Given the description of an element on the screen output the (x, y) to click on. 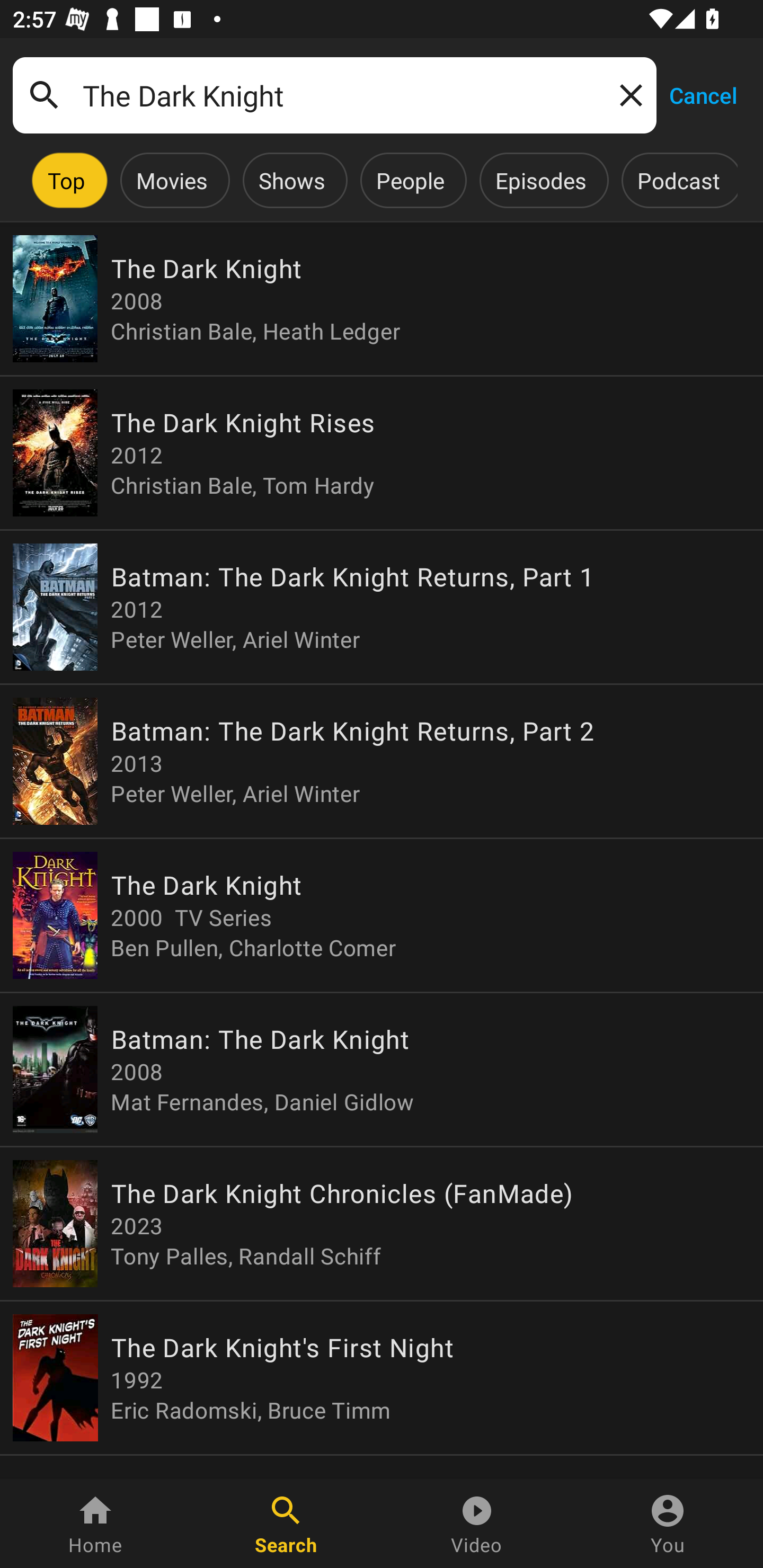
Clear query (627, 94)
Cancel (703, 94)
The Dark Knight (334, 95)
Top (66, 180)
Movies (171, 180)
Shows (291, 180)
People (410, 180)
Episodes (540, 180)
Podcast (678, 180)
The Dark Knight 2008 Christian Bale, Heath Ledger (381, 298)
Home (95, 1523)
Video (476, 1523)
You (667, 1523)
